Given the description of an element on the screen output the (x, y) to click on. 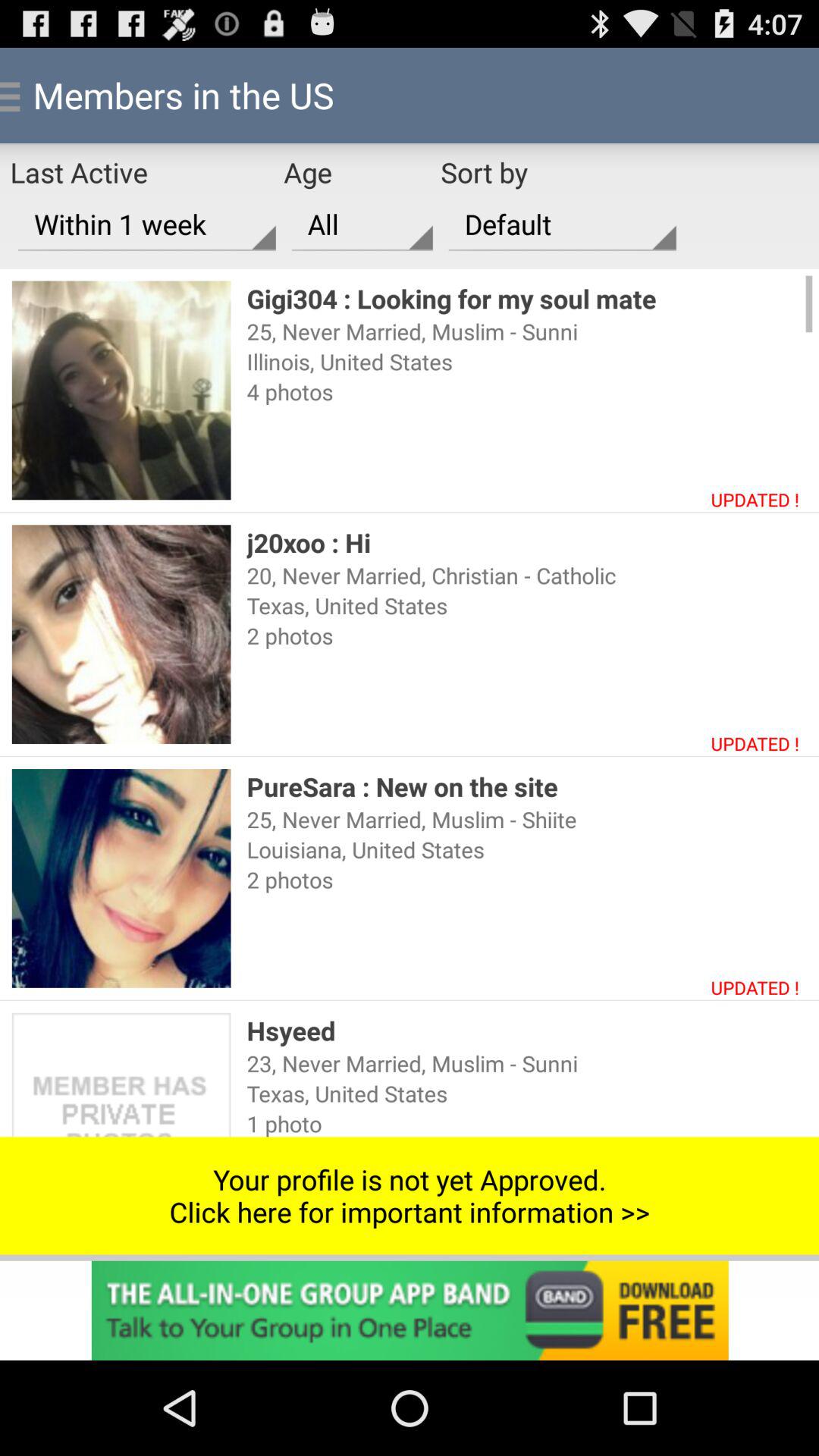
advatisment (409, 1310)
